Given the description of an element on the screen output the (x, y) to click on. 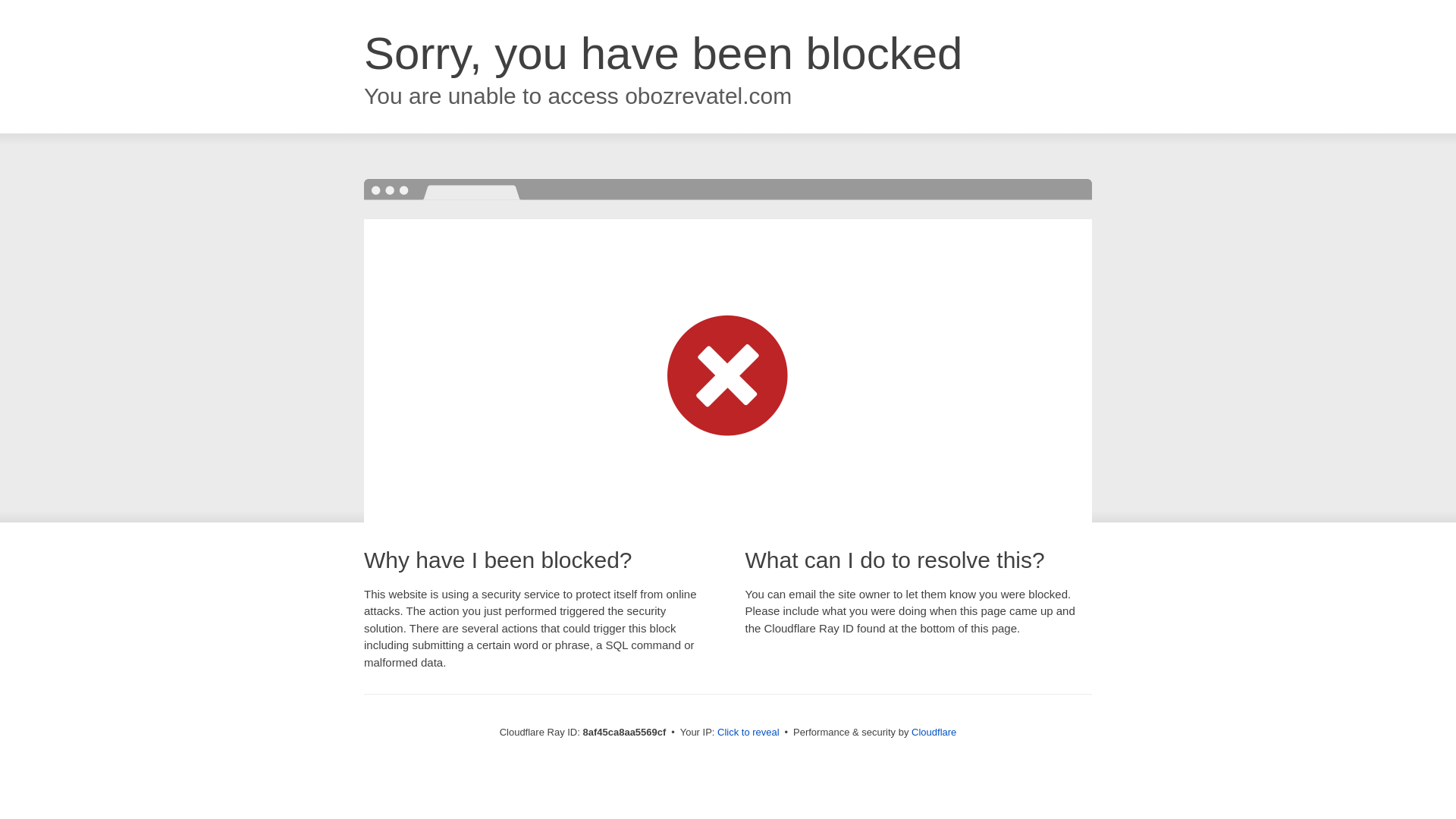
Cloudflare (933, 731)
Click to reveal (747, 732)
